Given the description of an element on the screen output the (x, y) to click on. 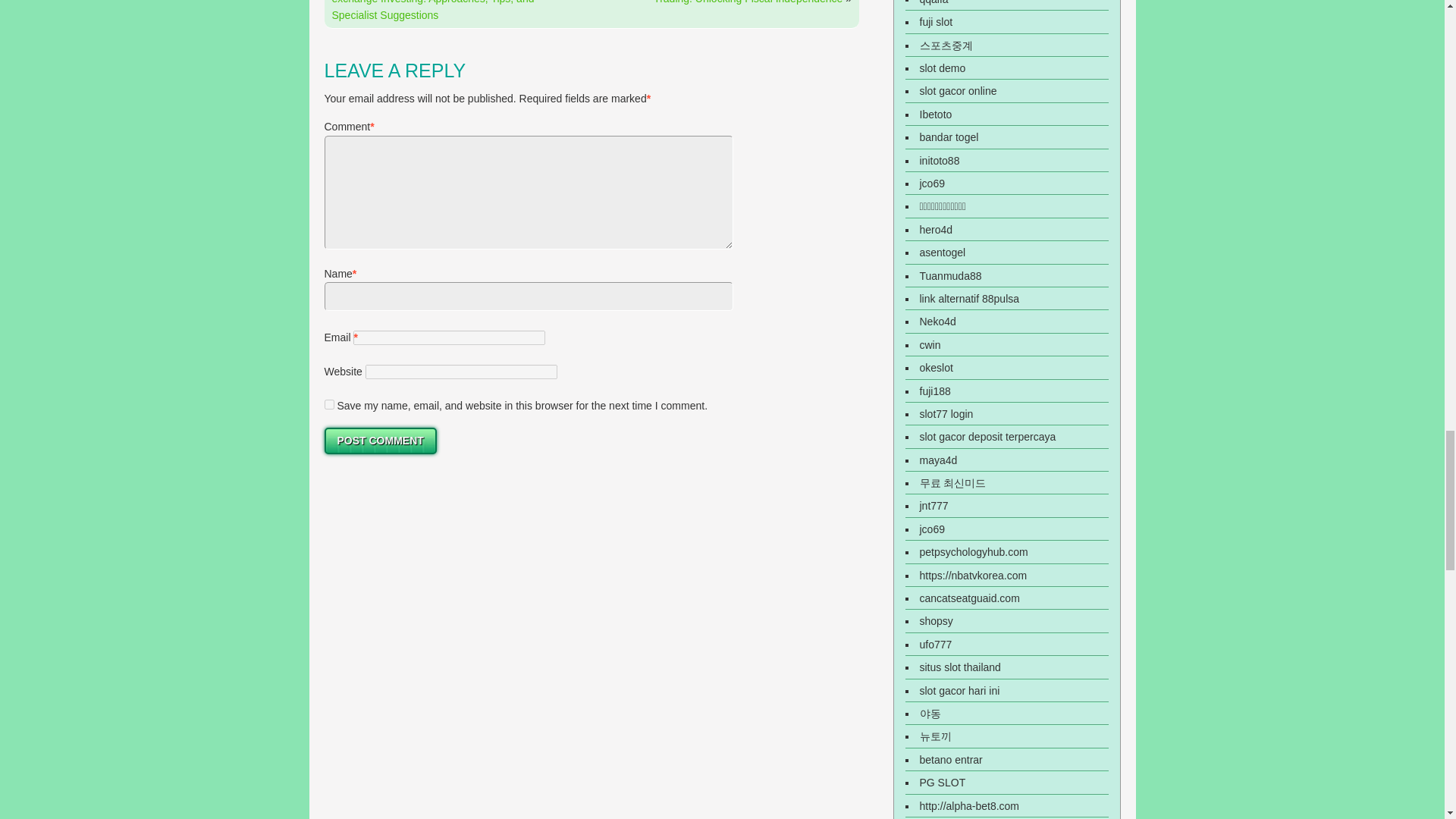
Post Comment (380, 440)
yes (329, 404)
Post Comment (380, 440)
